Given the description of an element on the screen output the (x, y) to click on. 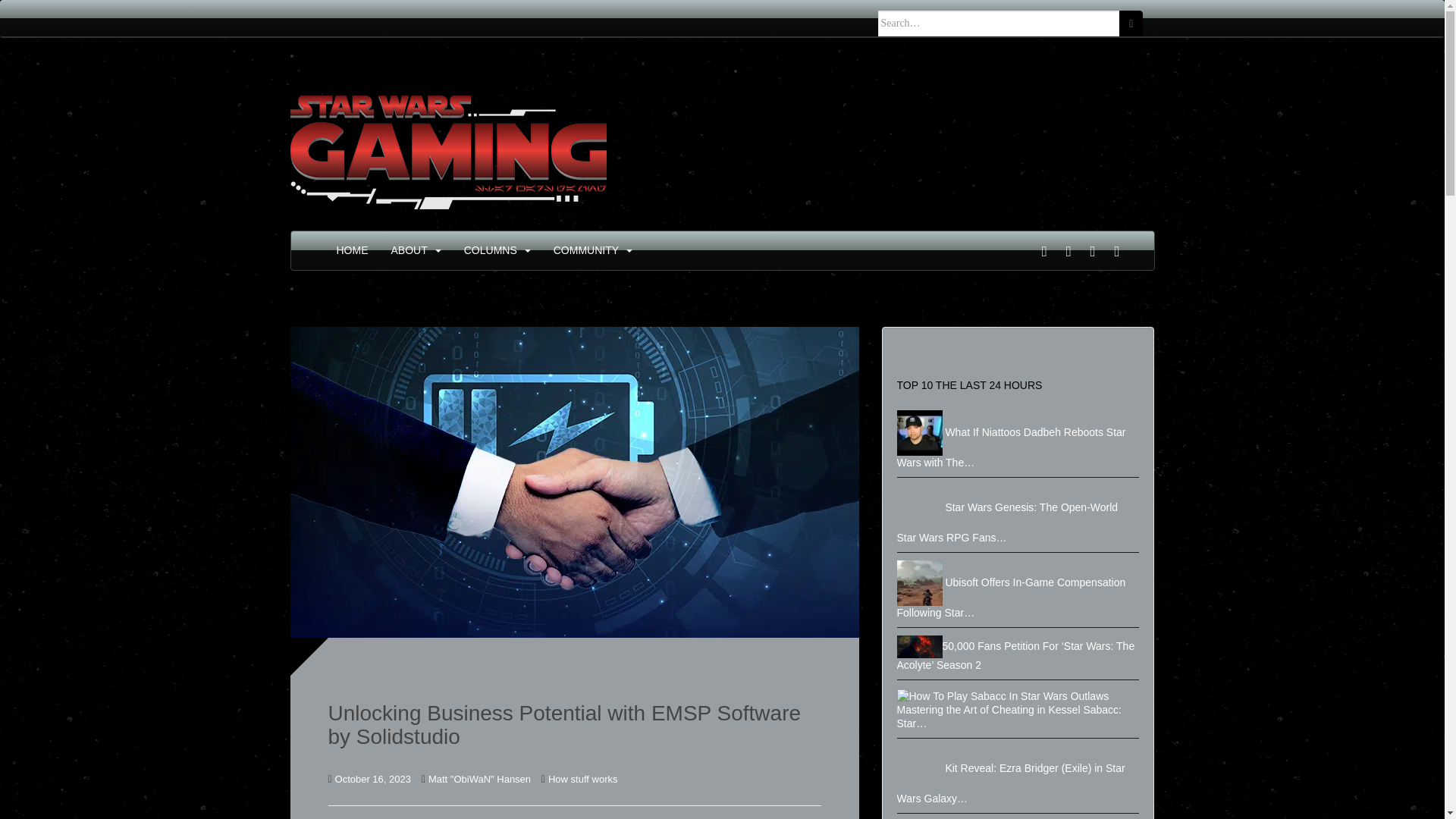
Search for: (999, 23)
COMMUNITY (585, 249)
COLUMNS (490, 249)
ABOUT (409, 249)
Search (1130, 23)
HOME (352, 249)
